Given the description of an element on the screen output the (x, y) to click on. 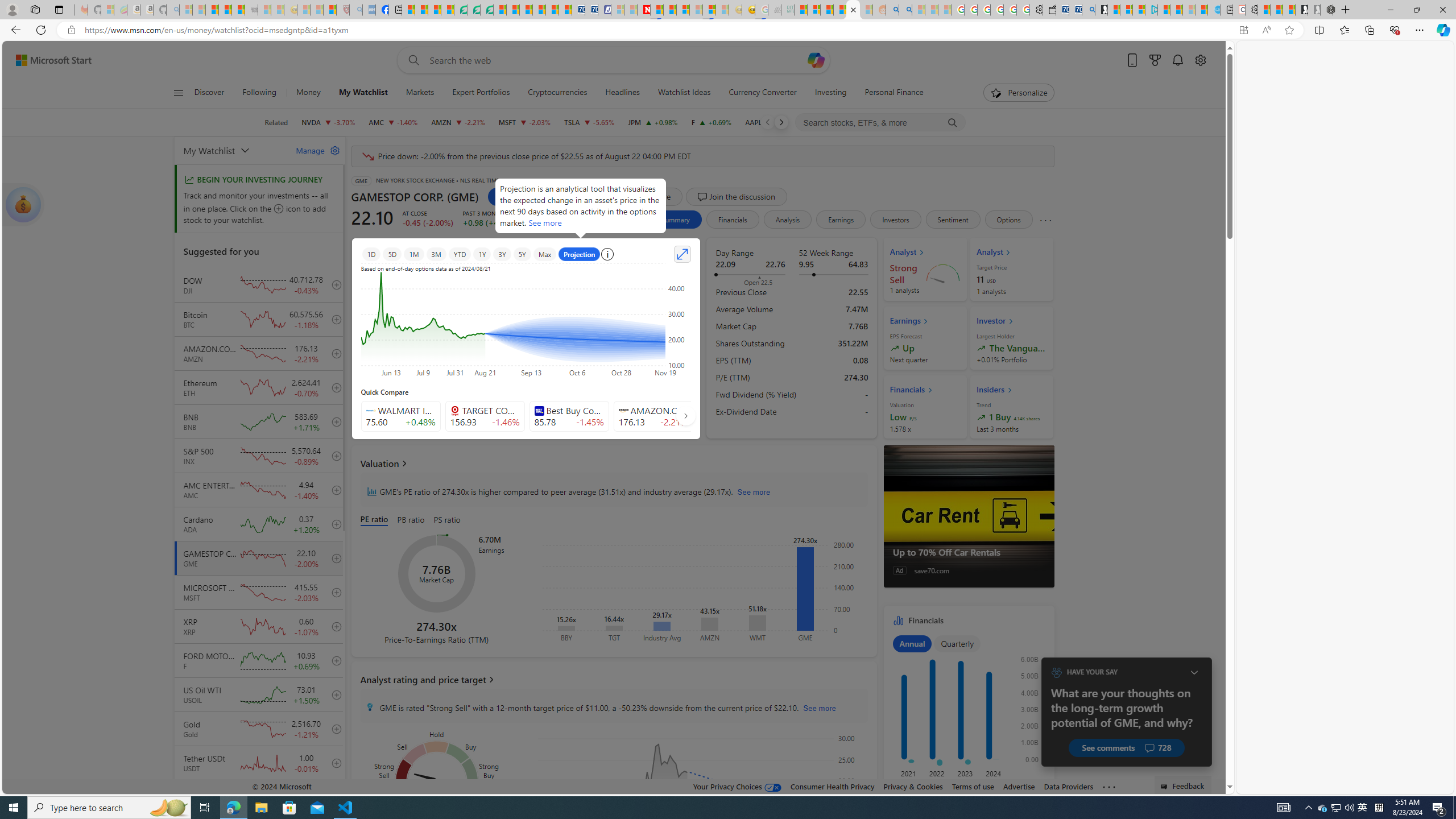
Trusted Community Engagement and Contributions | Guidelines (656, 9)
Home | Sky Blue Bikes - Sky Blue Bikes (1213, 9)
Wallet (1049, 9)
Robert H. Shmerling, MD - Harvard Health - Sleeping (342, 9)
Headlines (622, 92)
Consumer Health Privacy (832, 785)
